Given the description of an element on the screen output the (x, y) to click on. 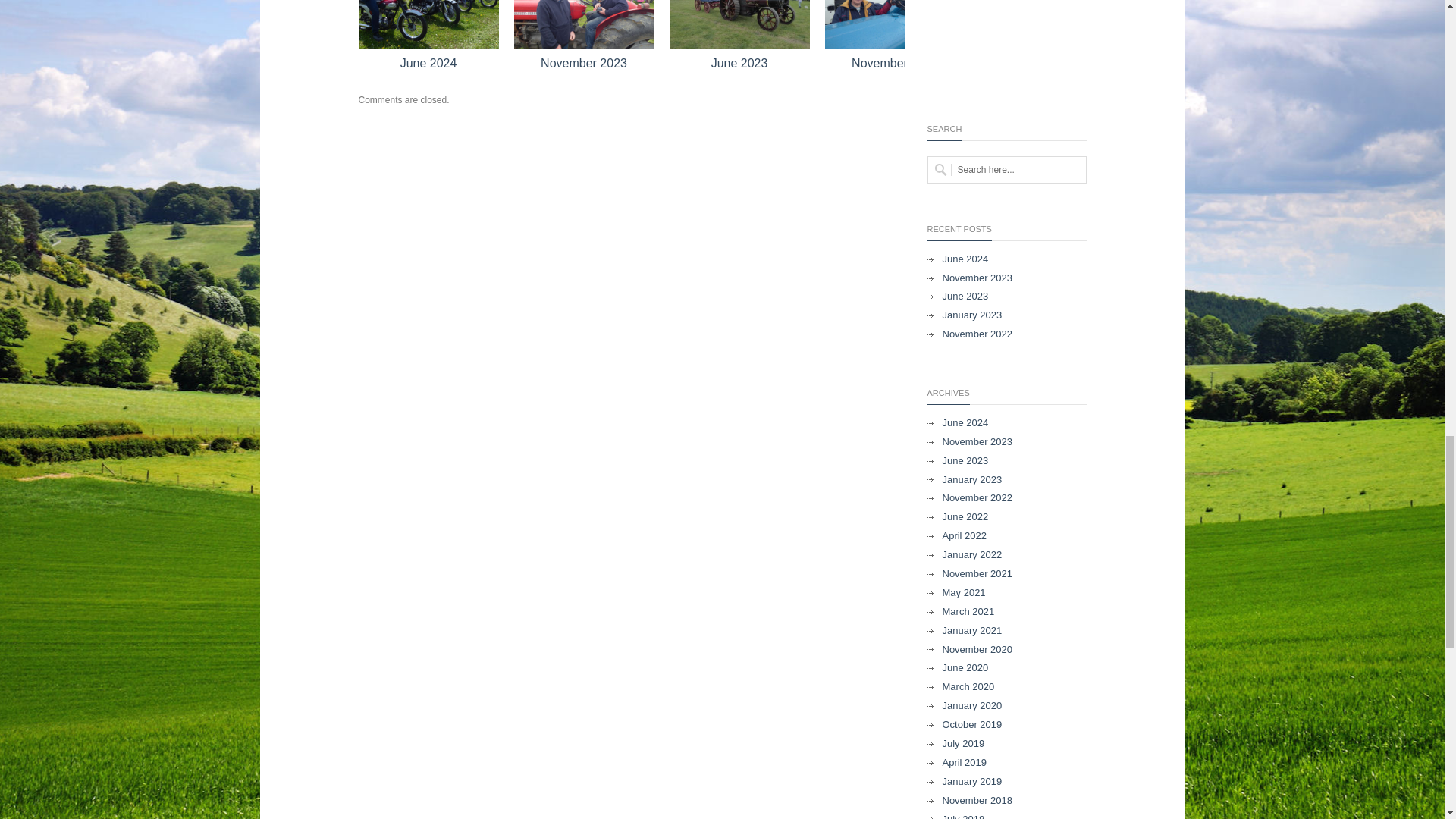
Search here... (1006, 169)
June 2024 (428, 62)
November 2023 (583, 24)
November 2023 (583, 62)
June 2024 (427, 24)
November 2022 (895, 24)
June 2023 (738, 24)
June 2023 (739, 62)
